Given the description of an element on the screen output the (x, y) to click on. 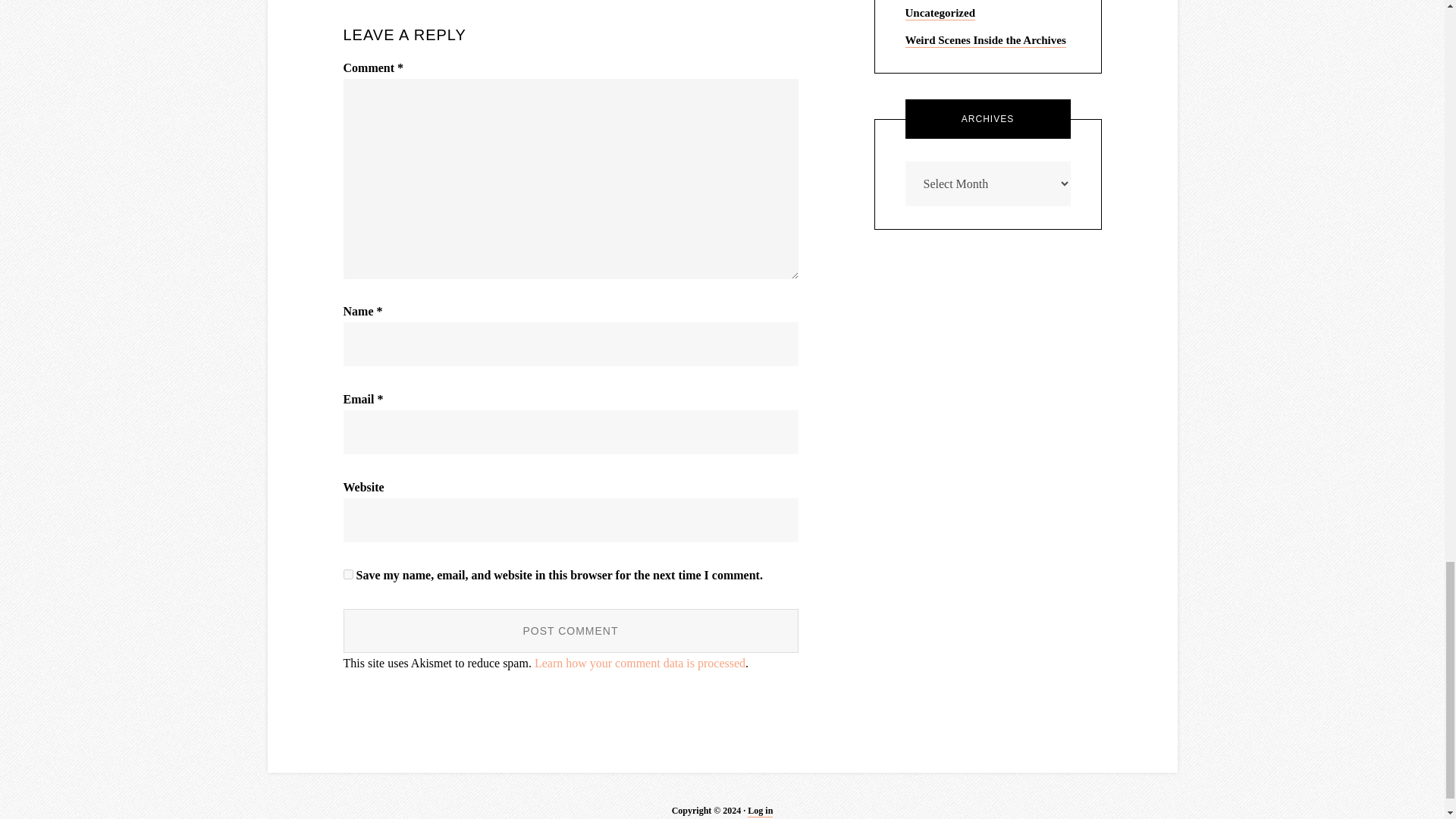
Uncategorized (940, 13)
Post Comment (569, 630)
Weird Scenes Inside the Archives (985, 40)
yes (347, 574)
Learn how your comment data is processed (639, 662)
Log in (760, 811)
Post Comment (569, 630)
